Given the description of an element on the screen output the (x, y) to click on. 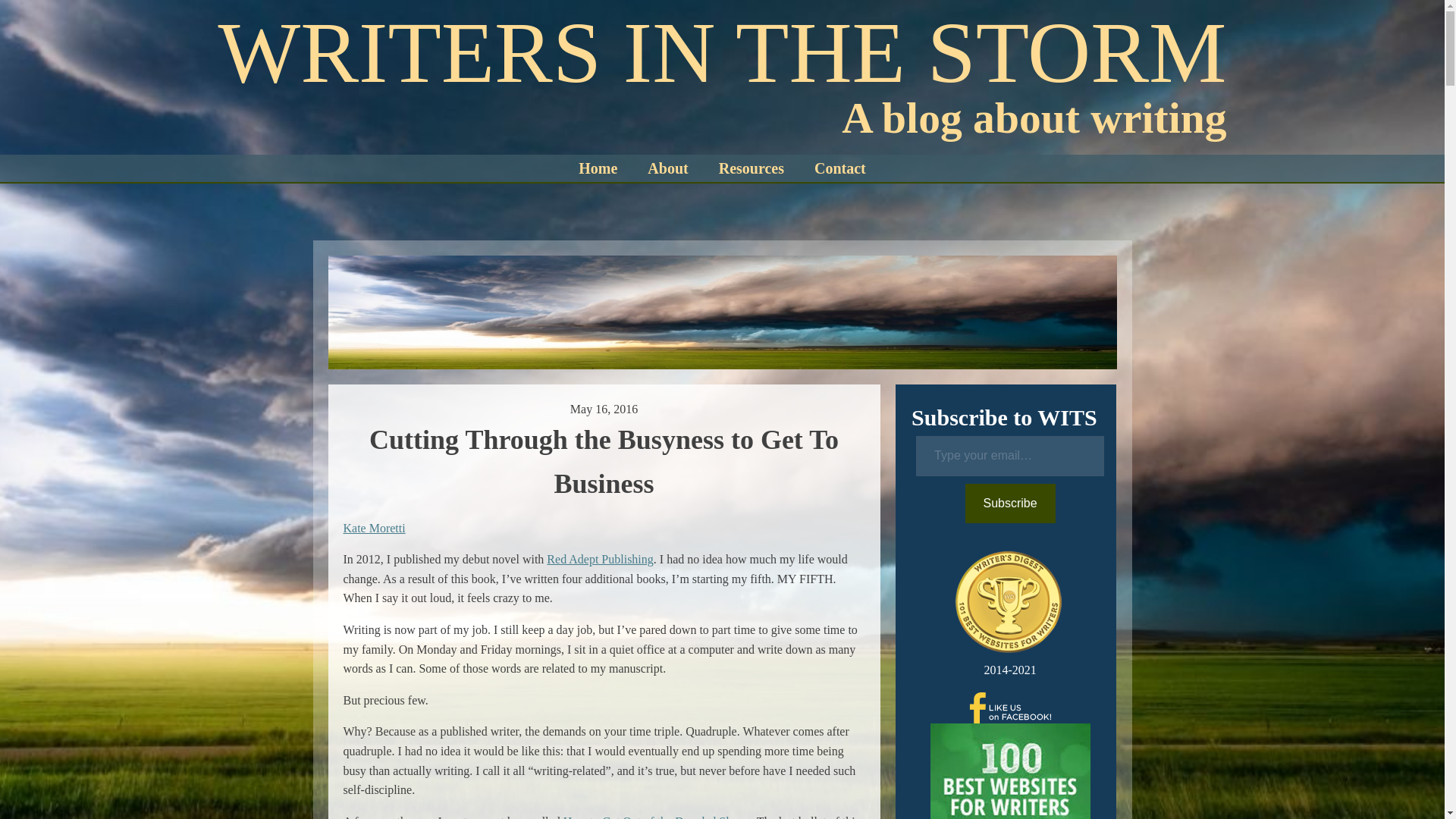
Red Adept Publishing (599, 558)
Kate Moretti (373, 527)
Contact (839, 167)
Home (597, 167)
Resources (751, 167)
How to Get Out of the Dreaded Slump (657, 816)
About (667, 167)
Please fill in this field. (1009, 455)
